Given the description of an element on the screen output the (x, y) to click on. 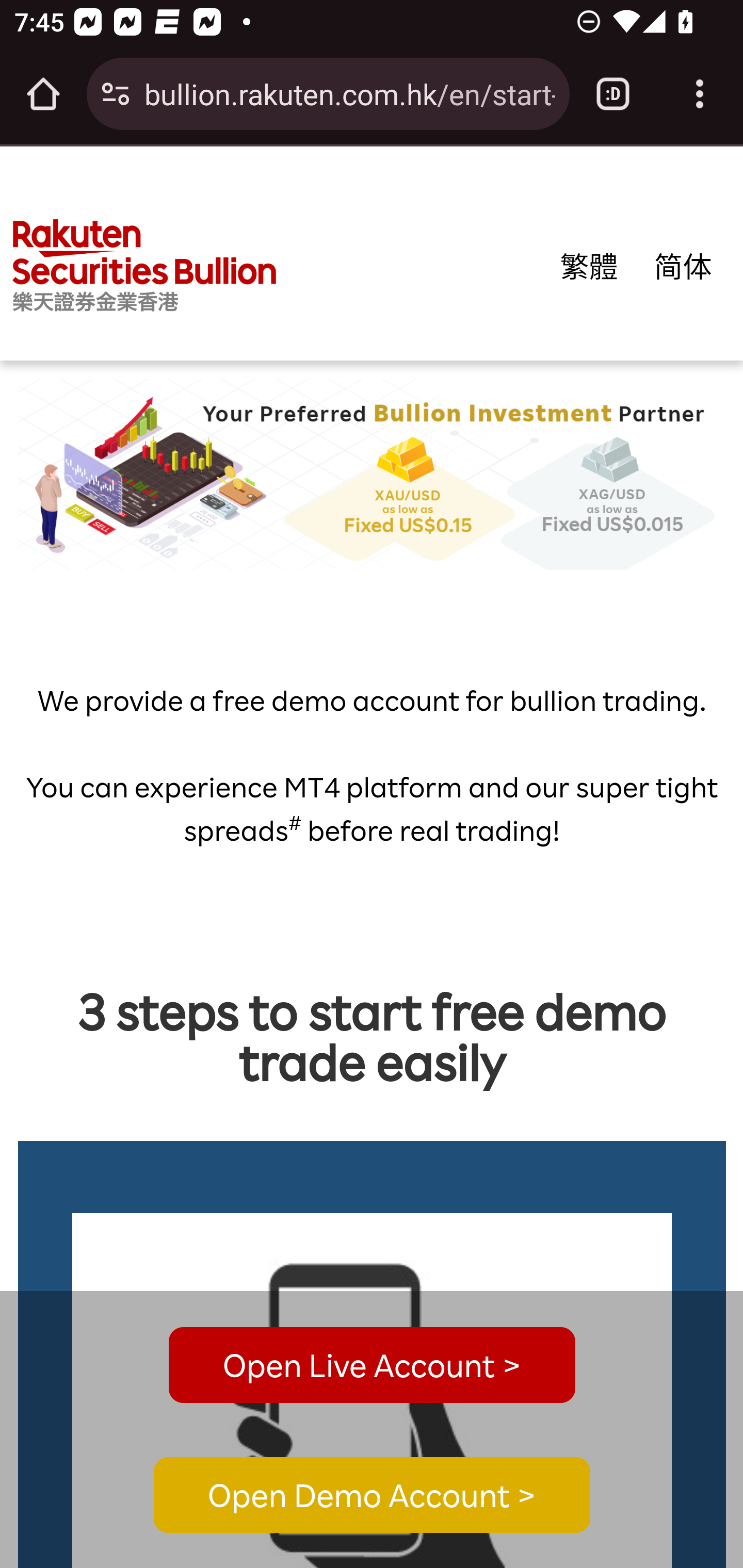
Open the home page (43, 93)
Connection is secure (115, 93)
Switch or close tabs (612, 93)
Customize and control Google Chrome (699, 93)
繁體 (589, 265)
简体 (683, 265)
Open Live Account > (371, 1365)
Open Demo Account > (371, 1495)
